Given the description of an element on the screen output the (x, y) to click on. 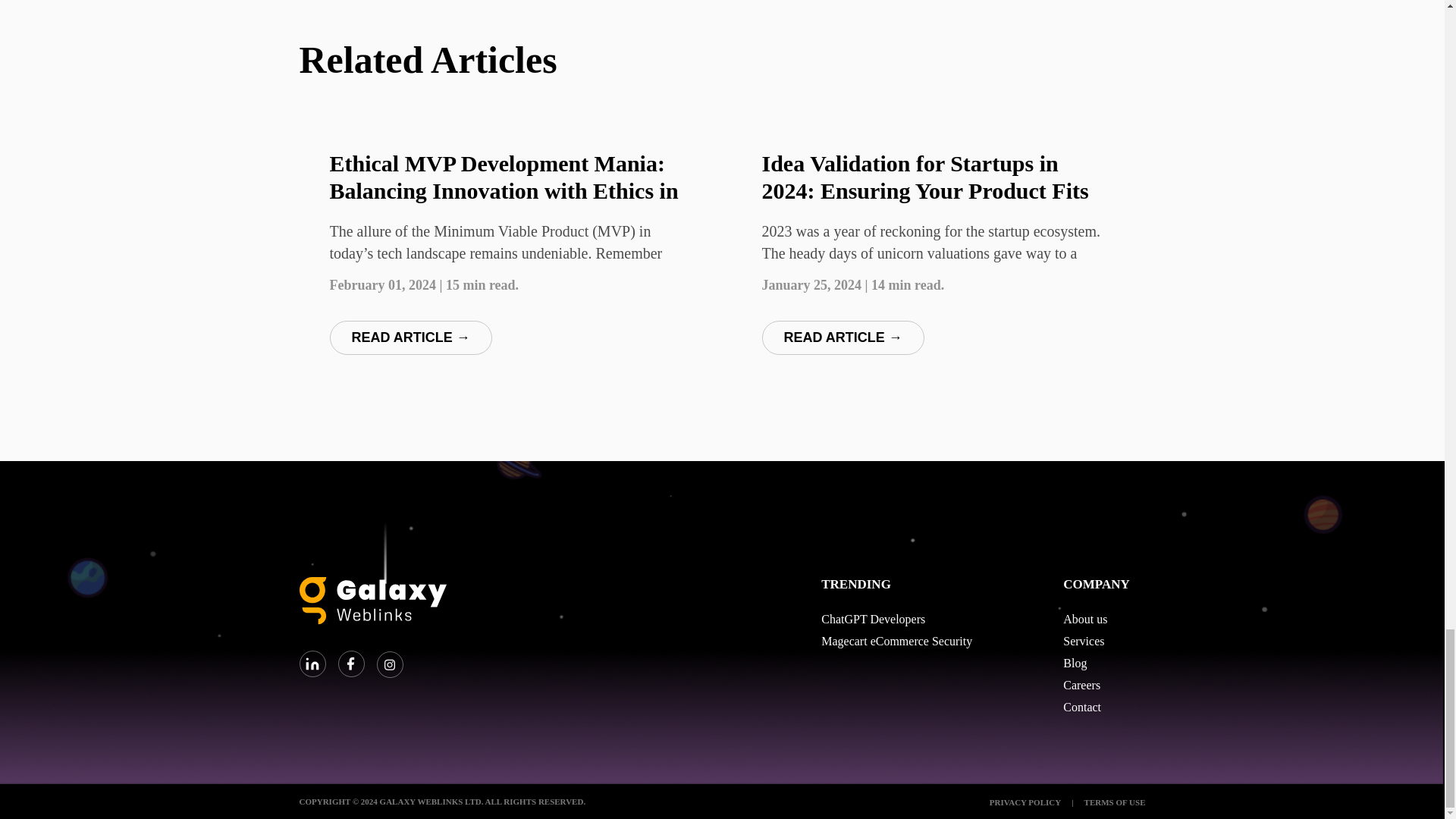
LinkedIn (311, 663)
Facebook (351, 663)
Instagram (389, 664)
